Given the description of an element on the screen output the (x, y) to click on. 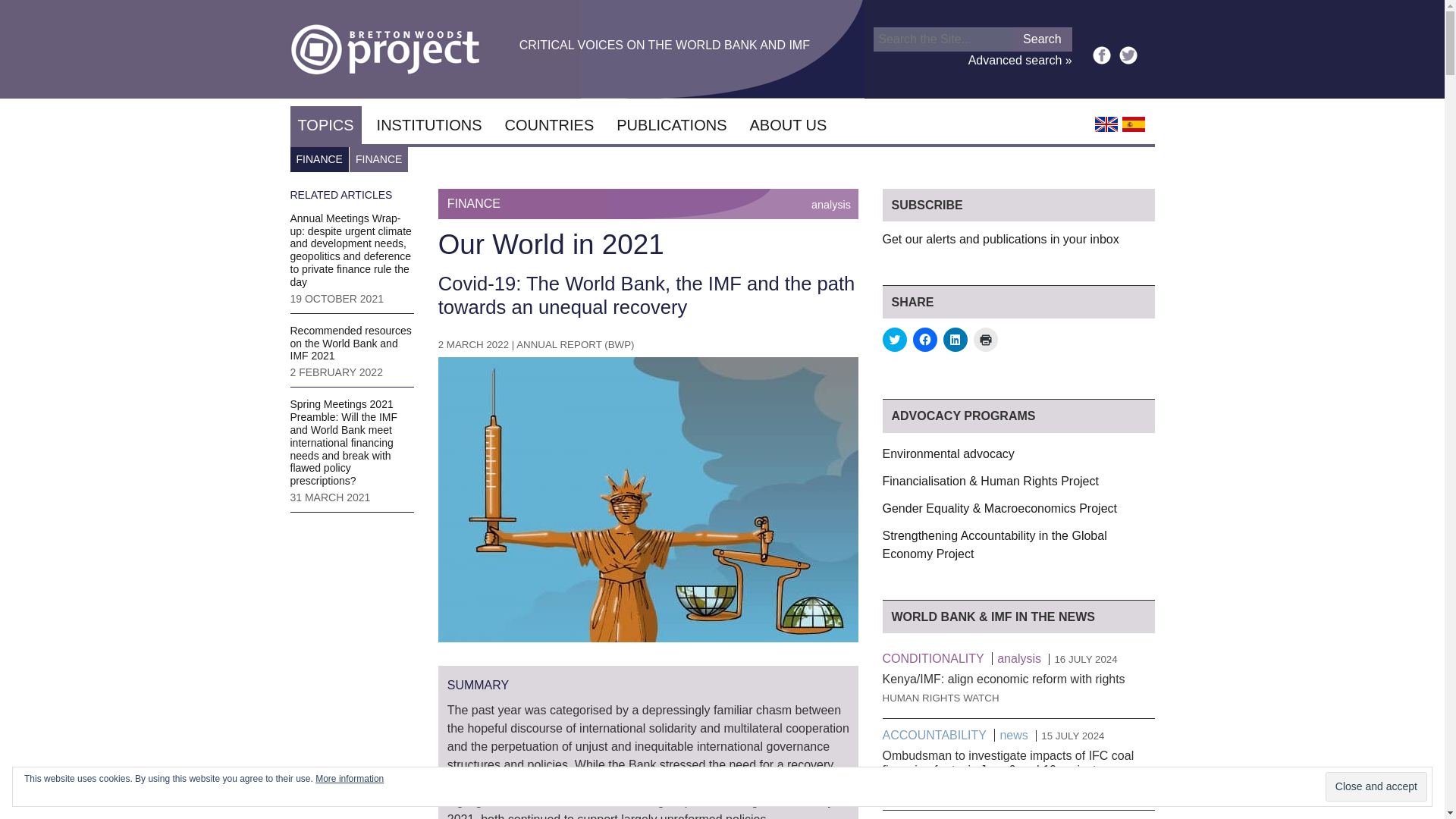
TOPICS (325, 125)
Search (1041, 39)
COUNTRIES (548, 125)
Close and accept (1375, 786)
PUBLICATIONS (670, 125)
Facebook (1101, 54)
INSTITUTIONS (429, 125)
Twitter (1128, 54)
Search (1041, 39)
